Given the description of an element on the screen output the (x, y) to click on. 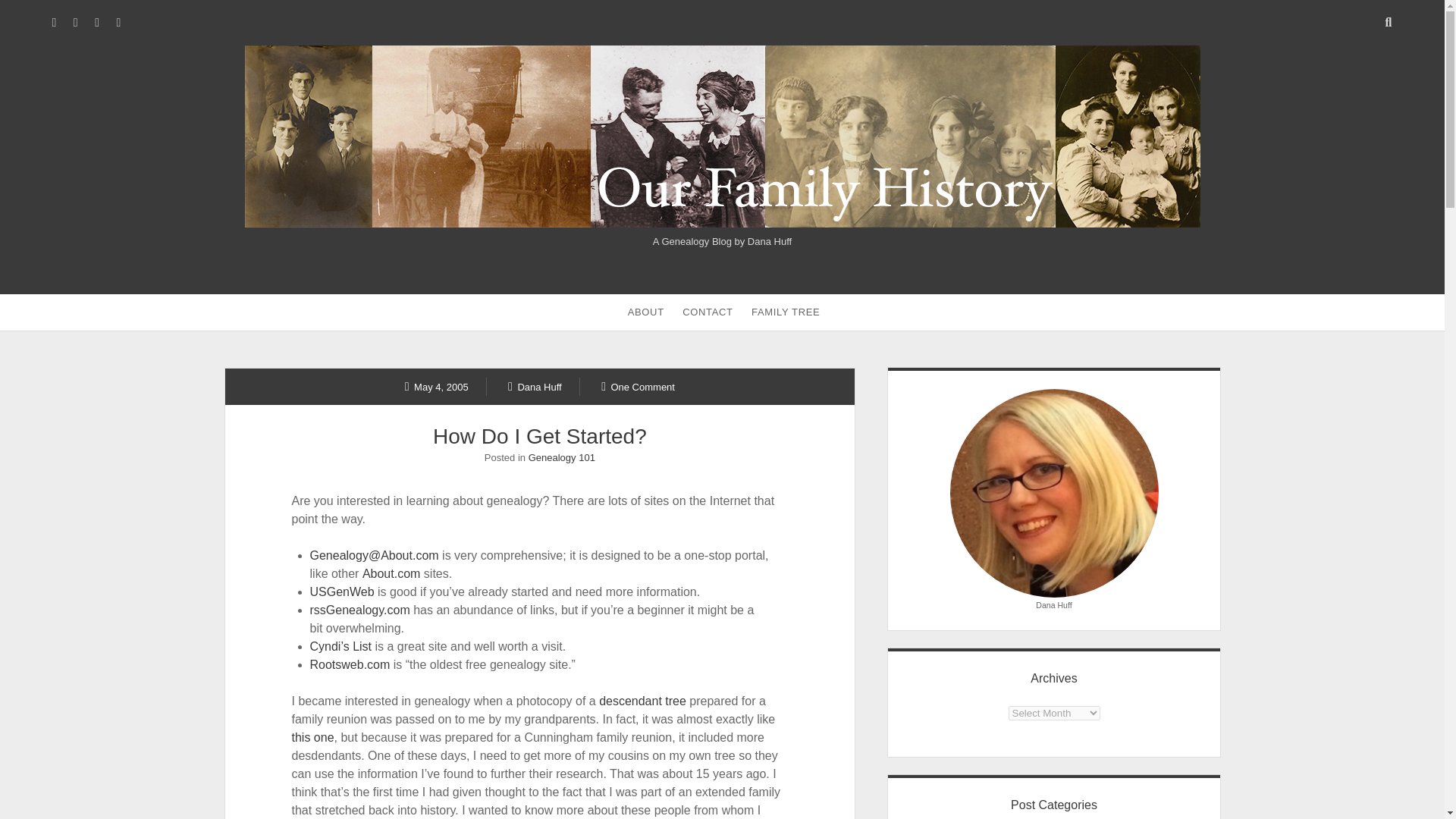
About.com (391, 573)
CONTACT (706, 312)
descendant tree (641, 700)
rssGenealogy.com (360, 609)
Rootsweb.com (350, 664)
May 4, 2005 (436, 386)
Posts from May (436, 386)
Our Family History (721, 219)
View all posts in Genealogy 101 (561, 457)
Comments for this post (638, 386)
Dana Huff (535, 386)
this one (313, 737)
USGenWeb (342, 591)
Posts by Dana Huff (535, 386)
ABOUT (645, 312)
